Given the description of an element on the screen output the (x, y) to click on. 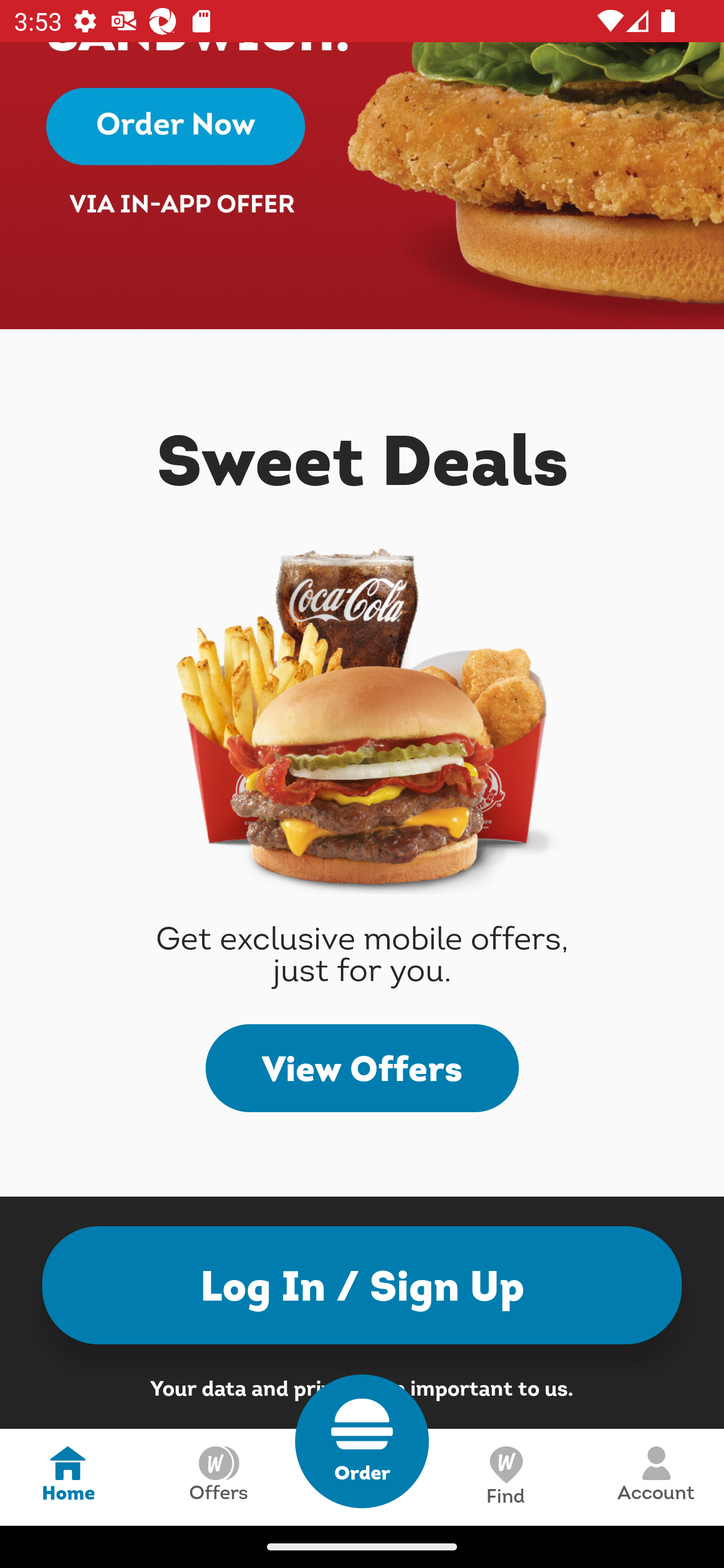
Campaign image (362, 185)
View Offers (362, 1067)
Log In / Sign Up (361, 1284)
Order,3 of 5 Order (361, 1441)
Home,1 of 5 Home (68, 1476)
Rewards,2 of 5 Offers Offers (218, 1476)
Scan,4 of 5 Find Find (505, 1476)
Account,5 of 5 Account (655, 1476)
